Given the description of an element on the screen output the (x, y) to click on. 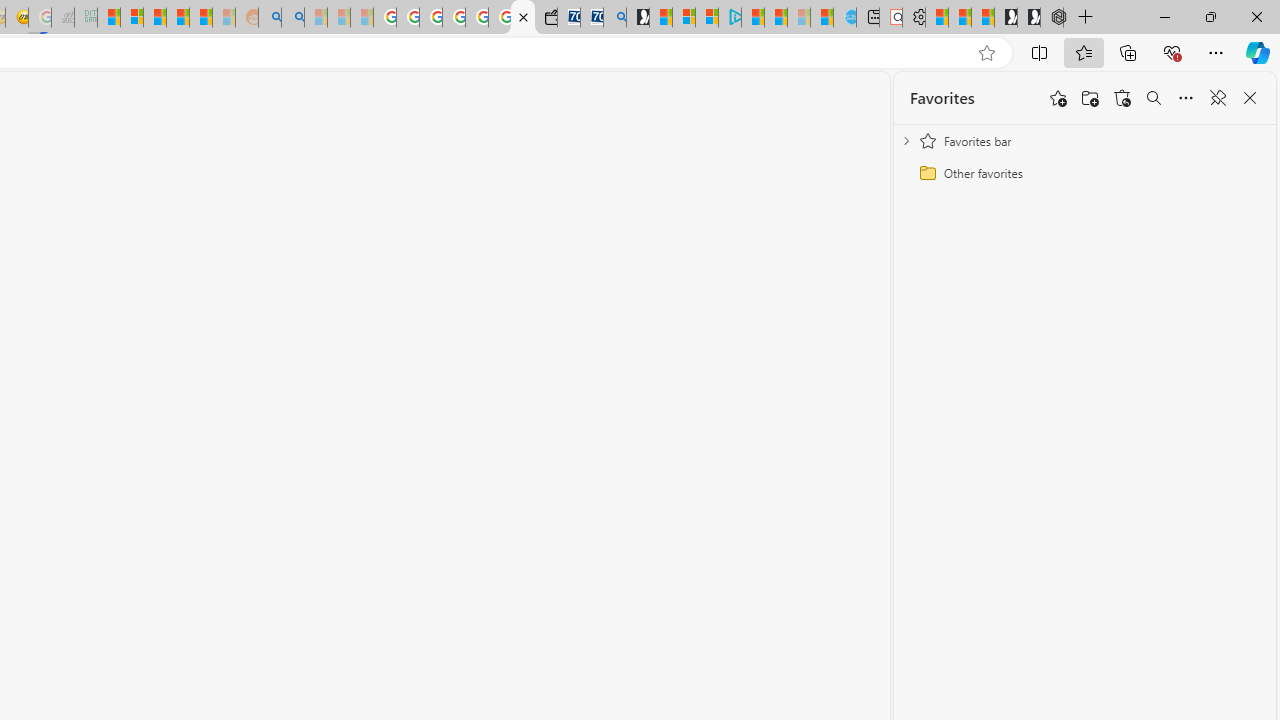
Add this page to favorites (1058, 98)
Utah sues federal government - Search (292, 17)
Add folder (1089, 98)
